Given the description of an element on the screen output the (x, y) to click on. 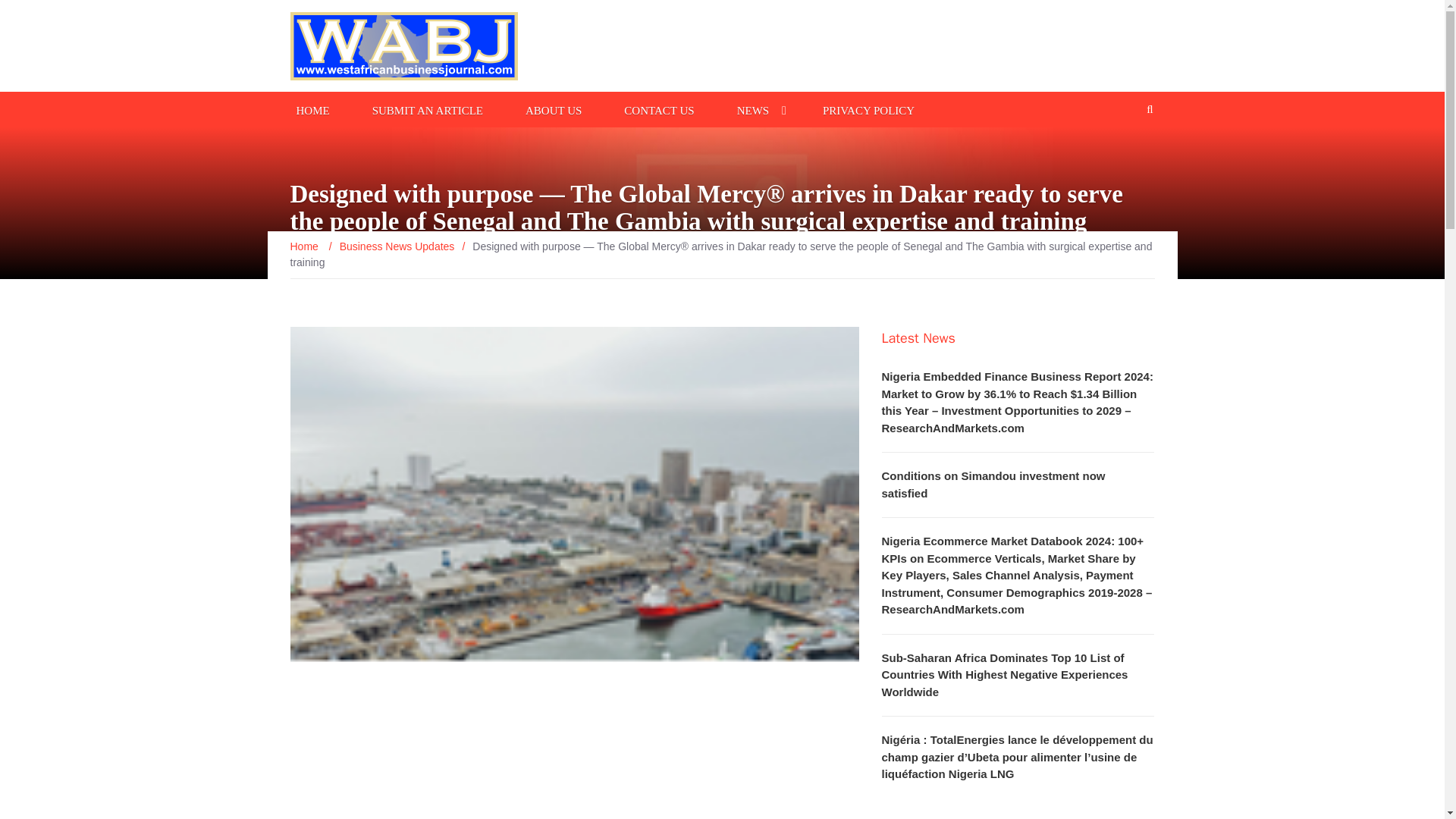
Business News Updates (396, 246)
SUBMIT AN ARTICLE (427, 109)
HOME (311, 109)
Home (304, 246)
NEWS (753, 109)
CONTACT US (658, 109)
ABOUT US (553, 109)
PRIVACY POLICY (868, 109)
